Given the description of an element on the screen output the (x, y) to click on. 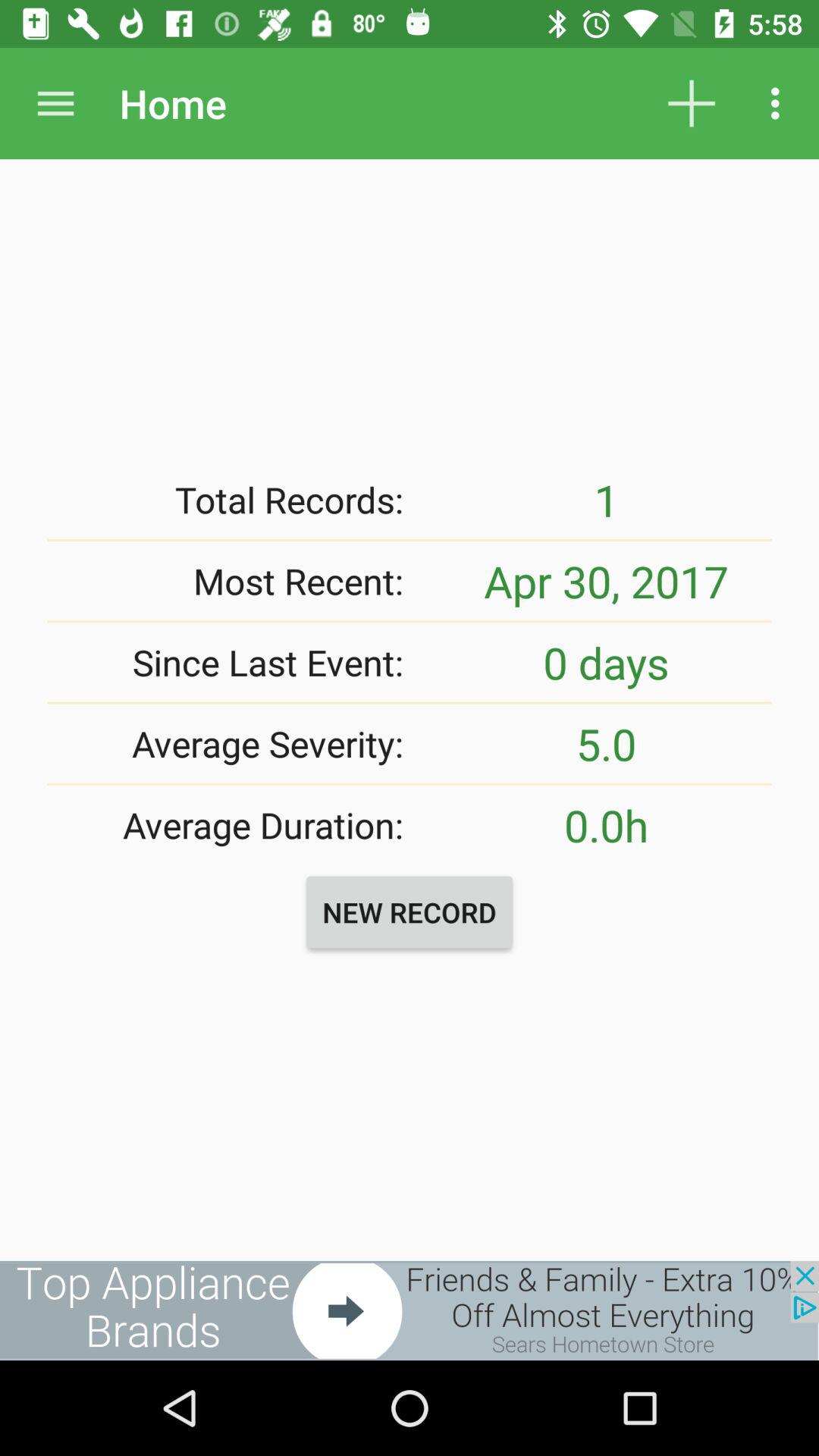
open menu (55, 103)
